Given the description of an element on the screen output the (x, y) to click on. 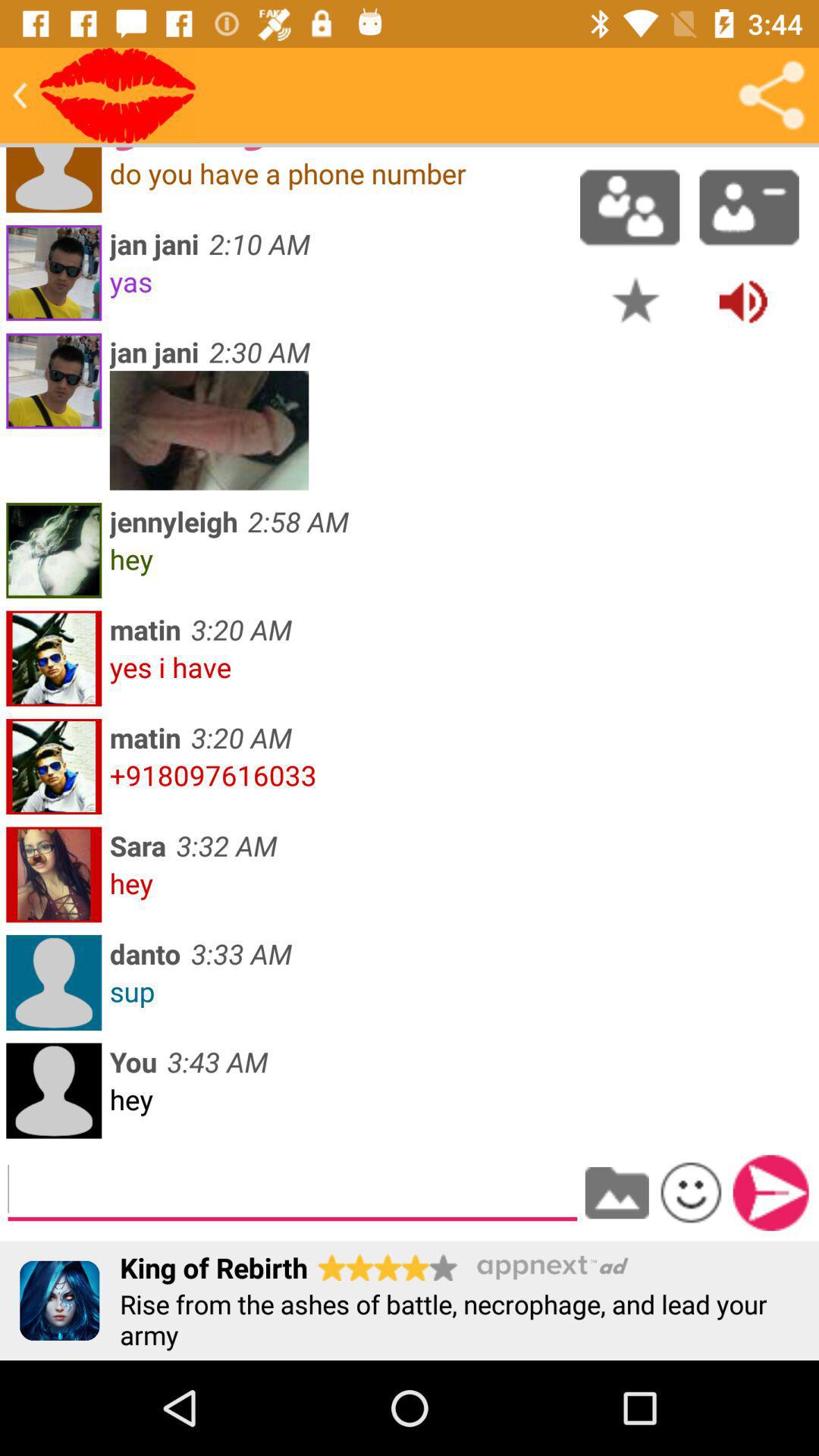
send kisses (117, 95)
